Given the description of an element on the screen output the (x, y) to click on. 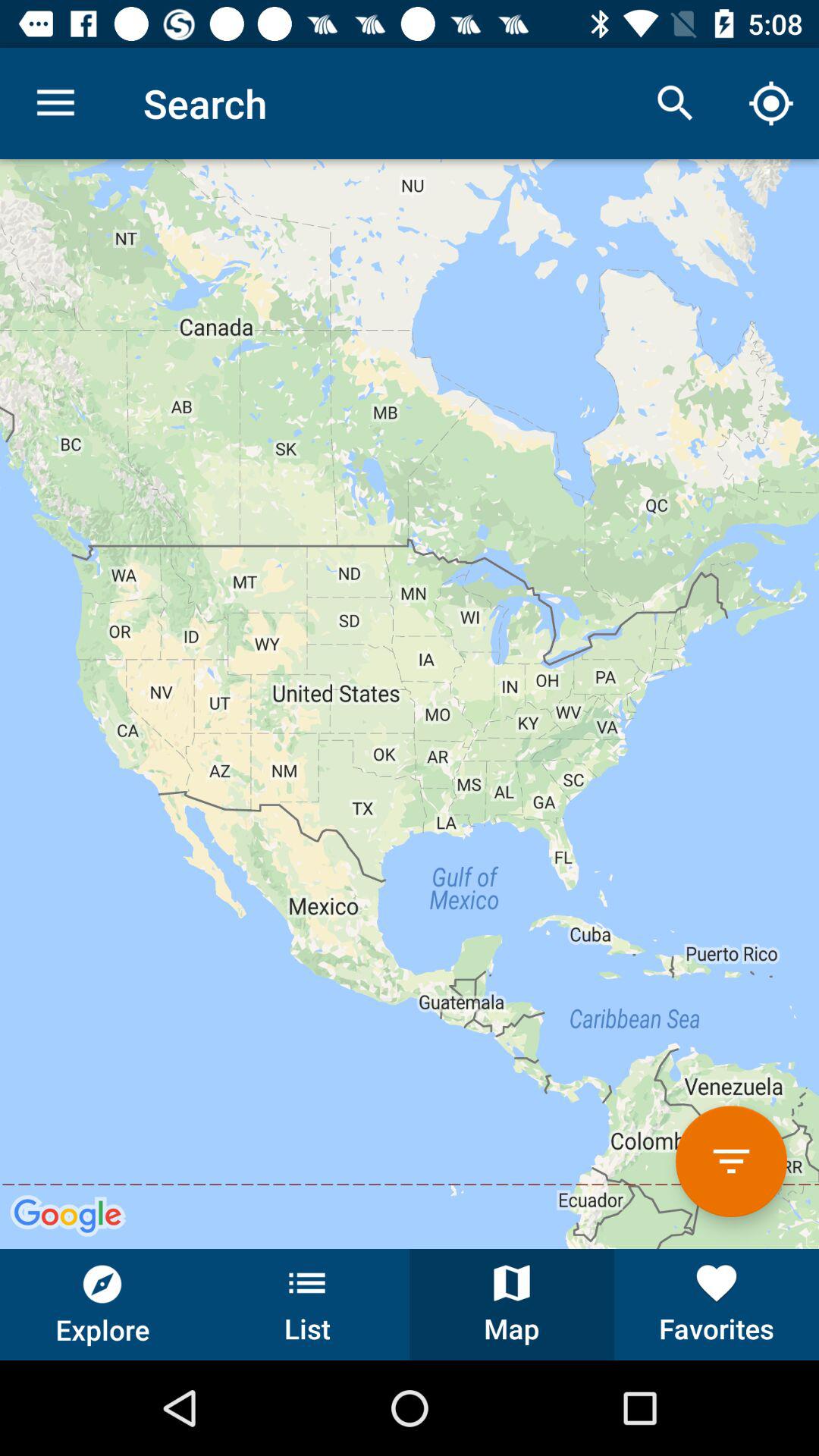
click the icon next to explore item (306, 1304)
